Given the description of an element on the screen output the (x, y) to click on. 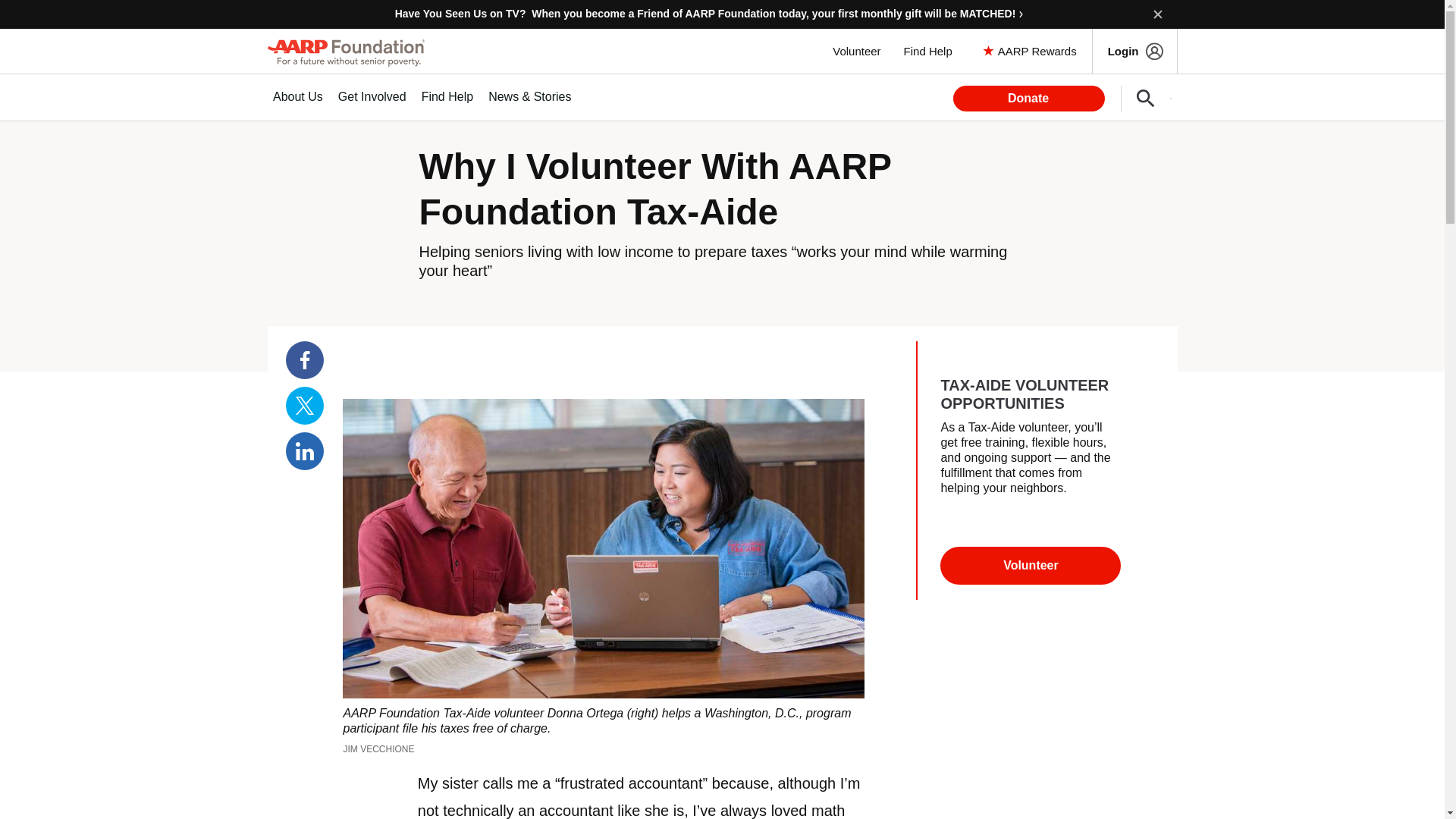
link to Donation form (722, 14)
Link to the get help landing page (927, 50)
Homepage (345, 52)
link to donate page (1029, 98)
AARP Rewards (1031, 50)
Donate (1029, 98)
Login (1134, 50)
Volunteer (856, 50)
Find Help (927, 50)
